Given the description of an element on the screen output the (x, y) to click on. 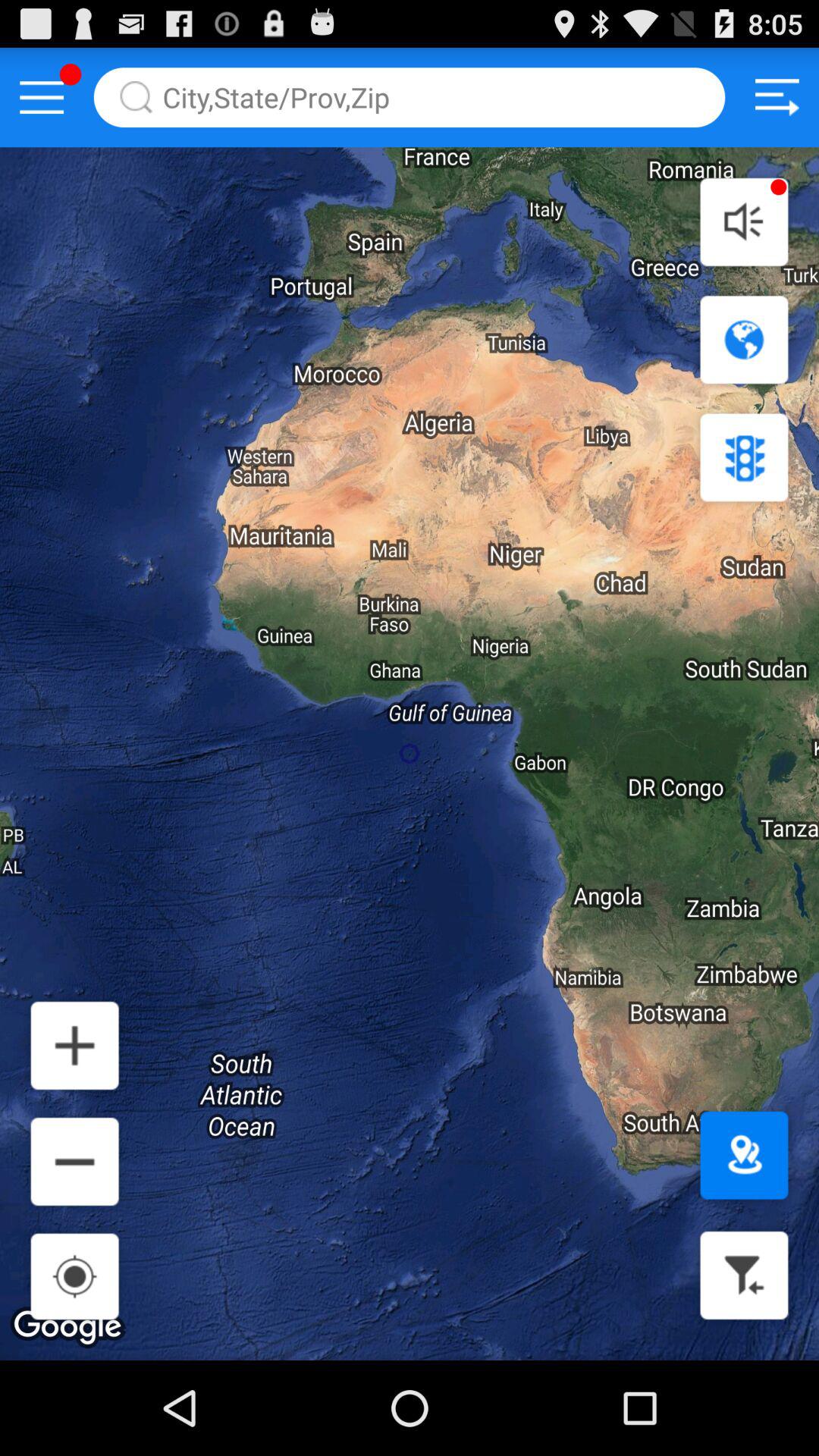
click menu (41, 97)
